Given the description of an element on the screen output the (x, y) to click on. 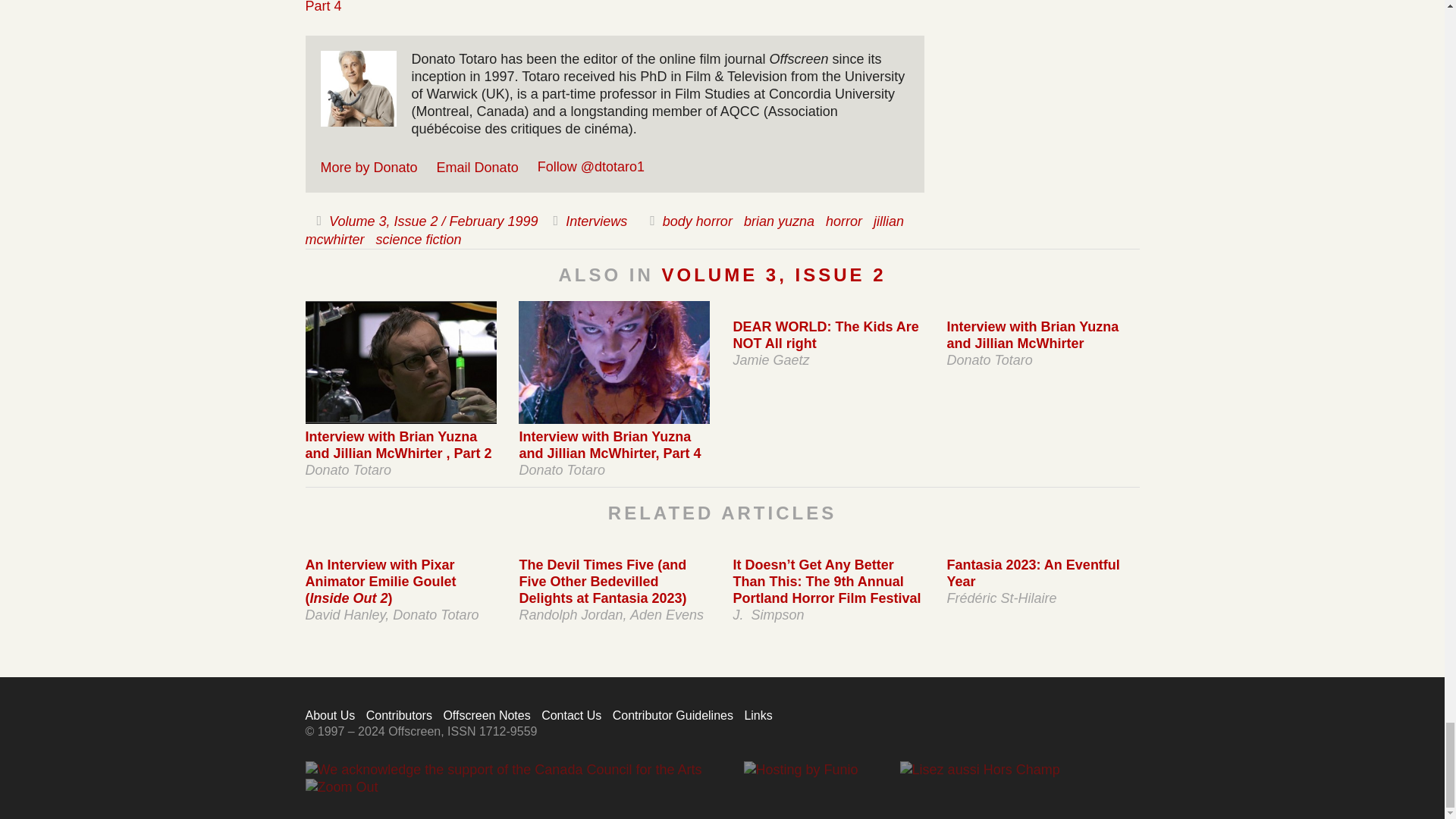
body horror (697, 221)
brian yuzna (778, 221)
More by Donato (368, 167)
jillian mcwhirter (604, 230)
Email Donato (477, 167)
Part 4 (322, 6)
Interview with Brian Yuzna and Jillian McWhirter , Part 2 (398, 445)
horror (843, 221)
Interviews (596, 221)
science fiction (418, 239)
VOLUME 3, ISSUE 2 (773, 274)
